Given the description of an element on the screen output the (x, y) to click on. 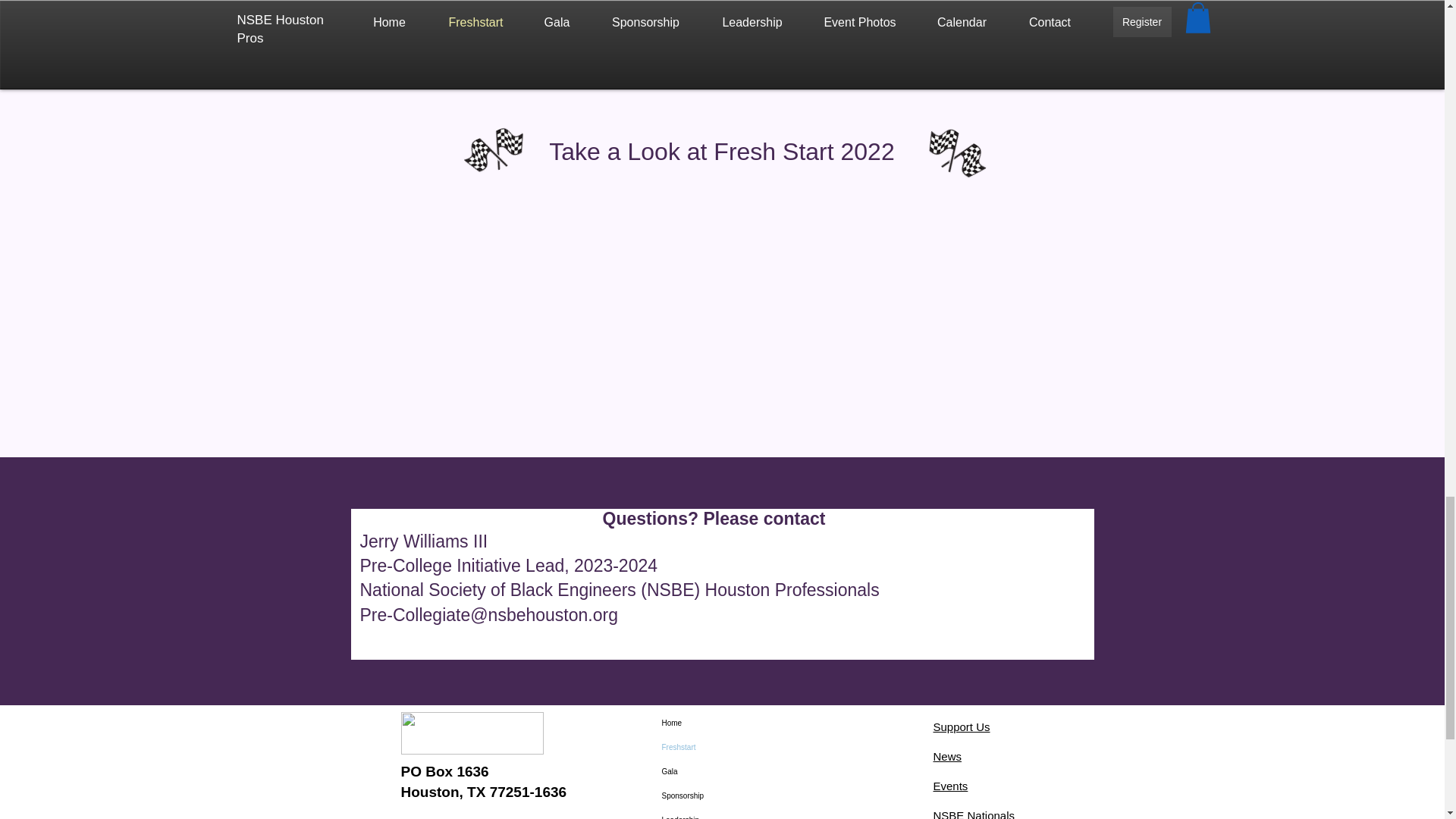
Home (732, 723)
Freshstart (732, 747)
Sponsorship (732, 795)
Gala (732, 771)
Leadership (732, 813)
